Given the description of an element on the screen output the (x, y) to click on. 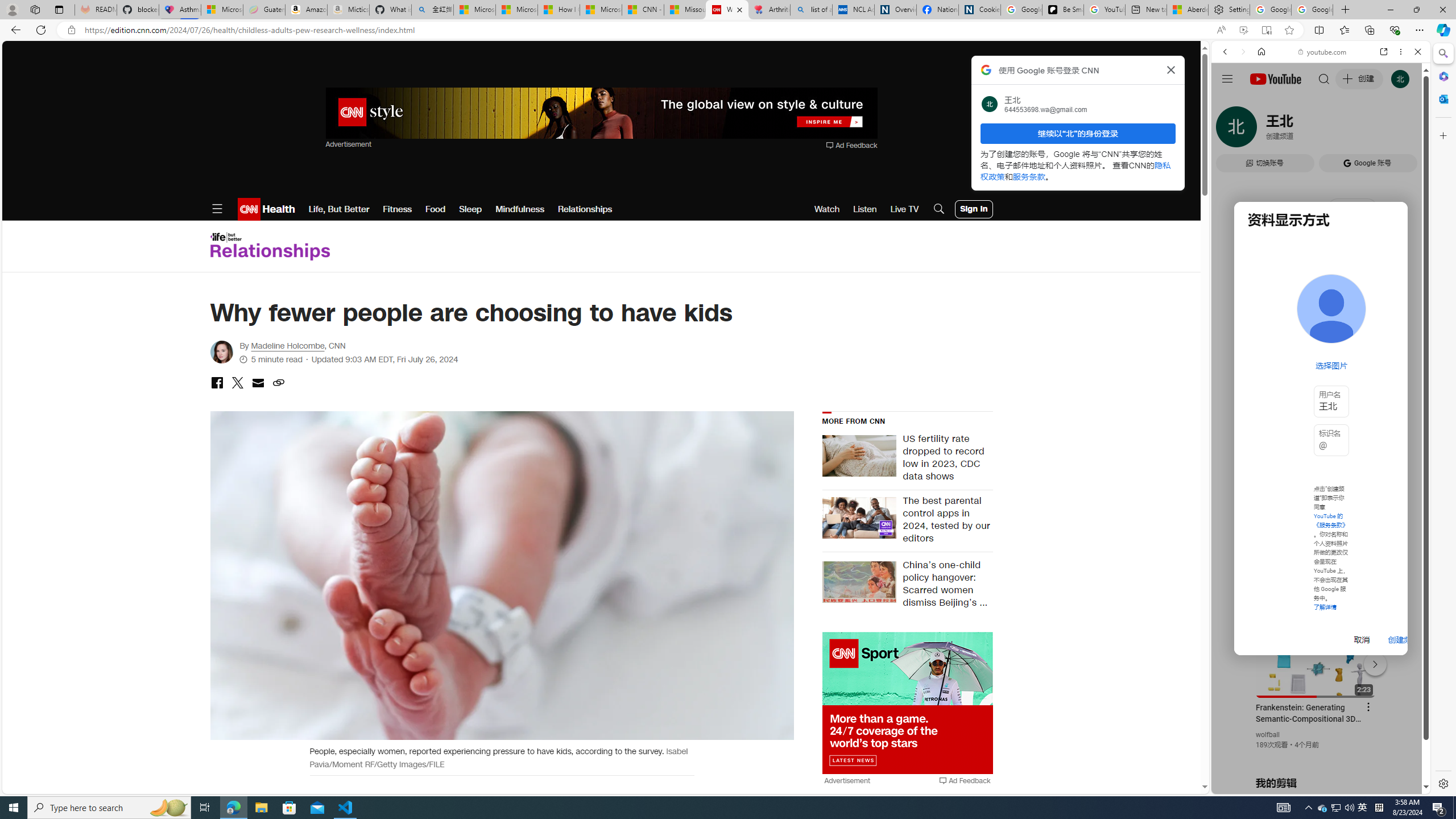
CNN - MSN (642, 9)
you (1315, 755)
Madeline Holcombe (220, 351)
